Given the description of an element on the screen output the (x, y) to click on. 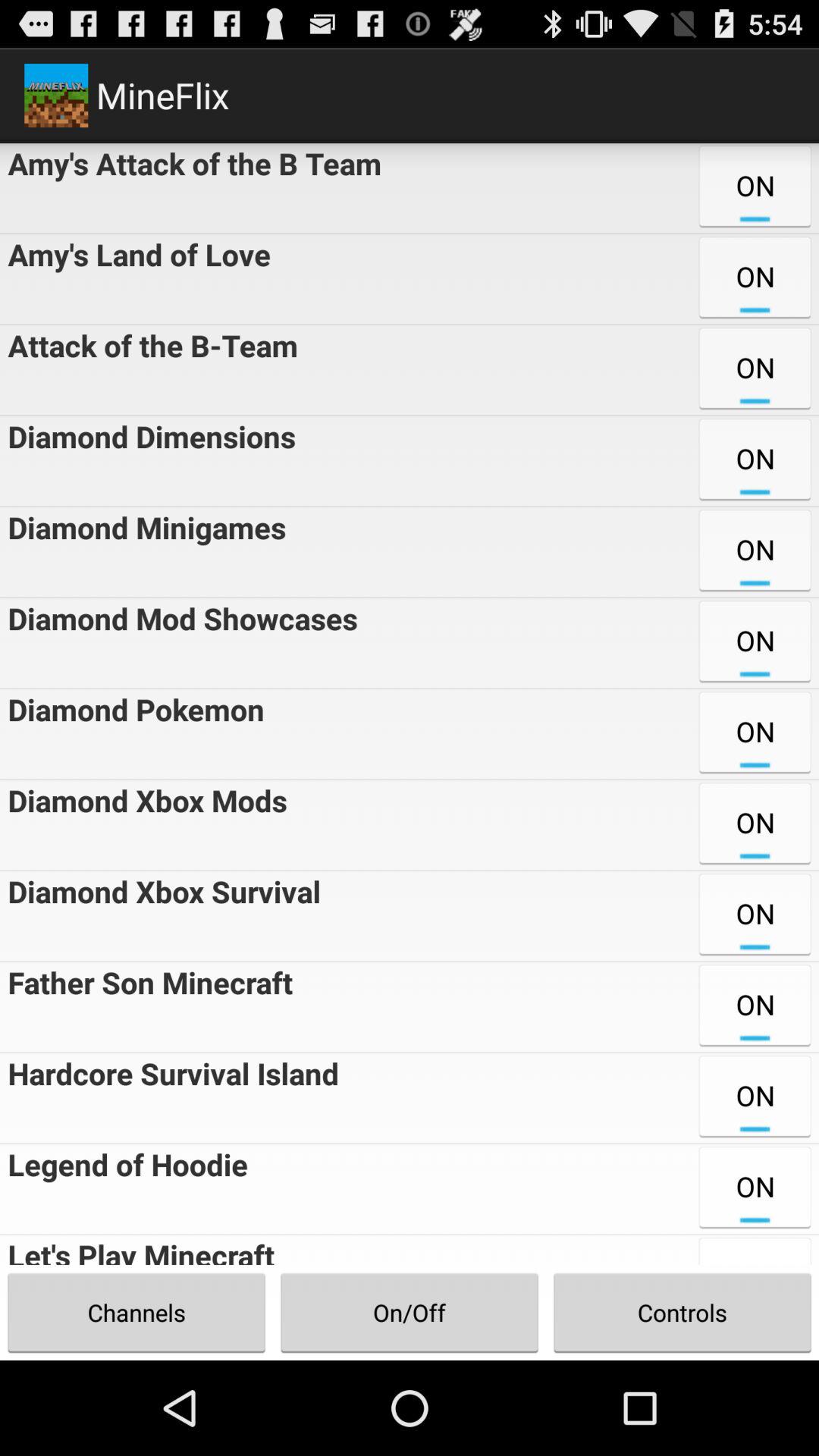
click app above the diamond mod showcases item (143, 552)
